Given the description of an element on the screen output the (x, y) to click on. 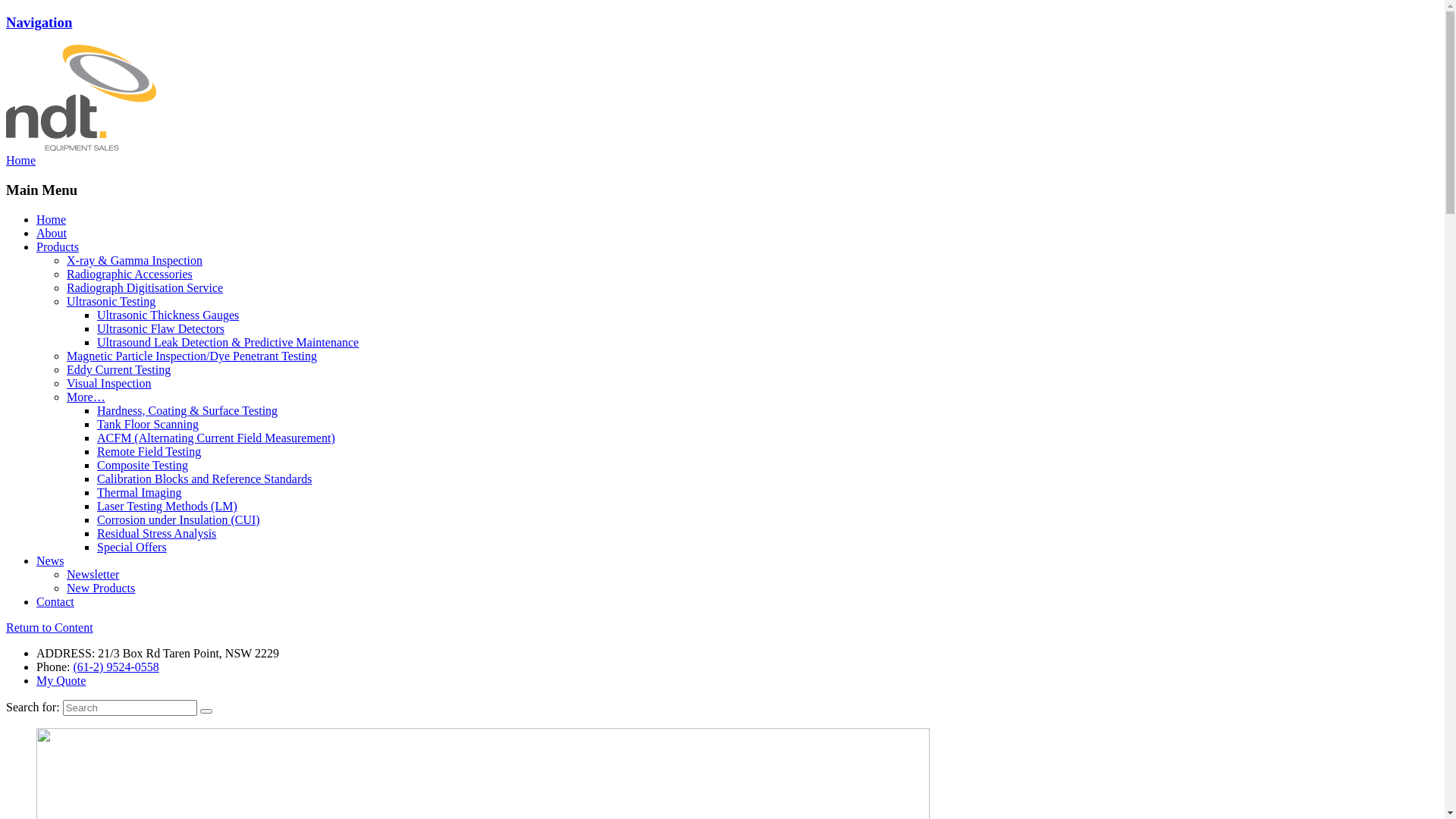
My Quote Element type: text (60, 680)
X-ray & Gamma Inspection Element type: text (134, 260)
ACFM (Alternating Current Field Measurement) Element type: text (216, 437)
Visual Inspection Element type: text (108, 382)
Corrosion under Insulation (CUI) Element type: text (178, 519)
Radiograph Digitisation Service Element type: text (144, 287)
Hardness, Coating & Surface Testing Element type: text (187, 410)
Contact Element type: text (55, 601)
Laser Testing Methods (LM) Element type: text (167, 505)
Ultrasonic Flaw Detectors Element type: text (160, 328)
Search Element type: text (206, 711)
(61-2) 9524-0558 Element type: text (115, 666)
Products Element type: text (57, 246)
Composite Testing Element type: text (142, 464)
Home Element type: text (50, 219)
Special Offers Element type: text (131, 546)
Home Element type: text (20, 159)
Calibration Blocks and Reference Standards Element type: text (204, 478)
Tank Floor Scanning Element type: text (147, 423)
Remote Field Testing Element type: text (148, 451)
Residual Stress Analysis Element type: text (156, 533)
Magnetic Particle Inspection/Dye Penetrant Testing Element type: text (191, 355)
New Products Element type: text (100, 587)
Ultrasonic Thickness Gauges Element type: text (167, 314)
Ultrasound Leak Detection & Predictive Maintenance Element type: text (227, 341)
Return to Content Element type: text (49, 627)
Eddy Current Testing Element type: text (118, 369)
Ultrasonic Testing Element type: text (110, 300)
Navigation Element type: text (39, 22)
Newsletter Element type: text (92, 573)
About Element type: text (51, 232)
Radiographic Accessories Element type: text (129, 273)
News Element type: text (49, 560)
Thermal Imaging Element type: text (139, 492)
